Given the description of an element on the screen output the (x, y) to click on. 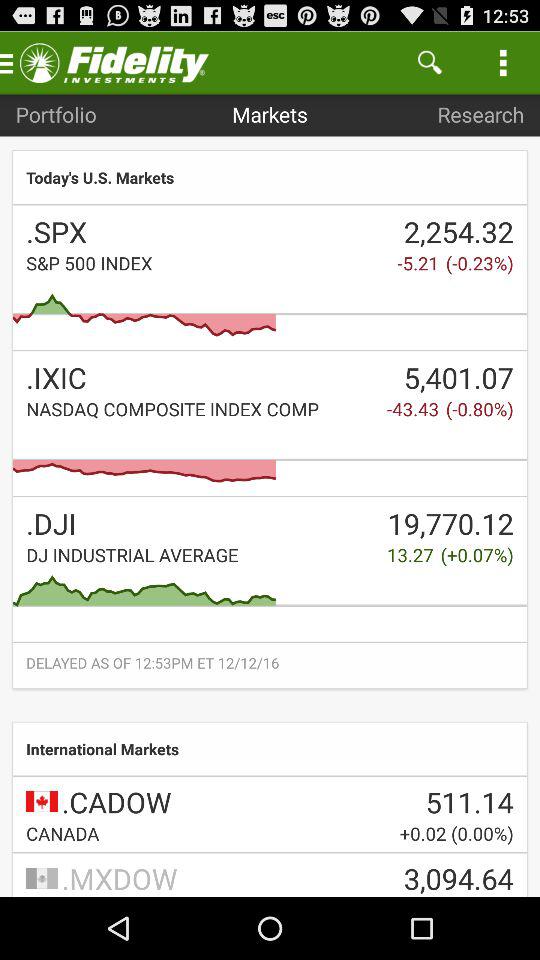
click item next to the markets icon (55, 114)
